Given the description of an element on the screen output the (x, y) to click on. 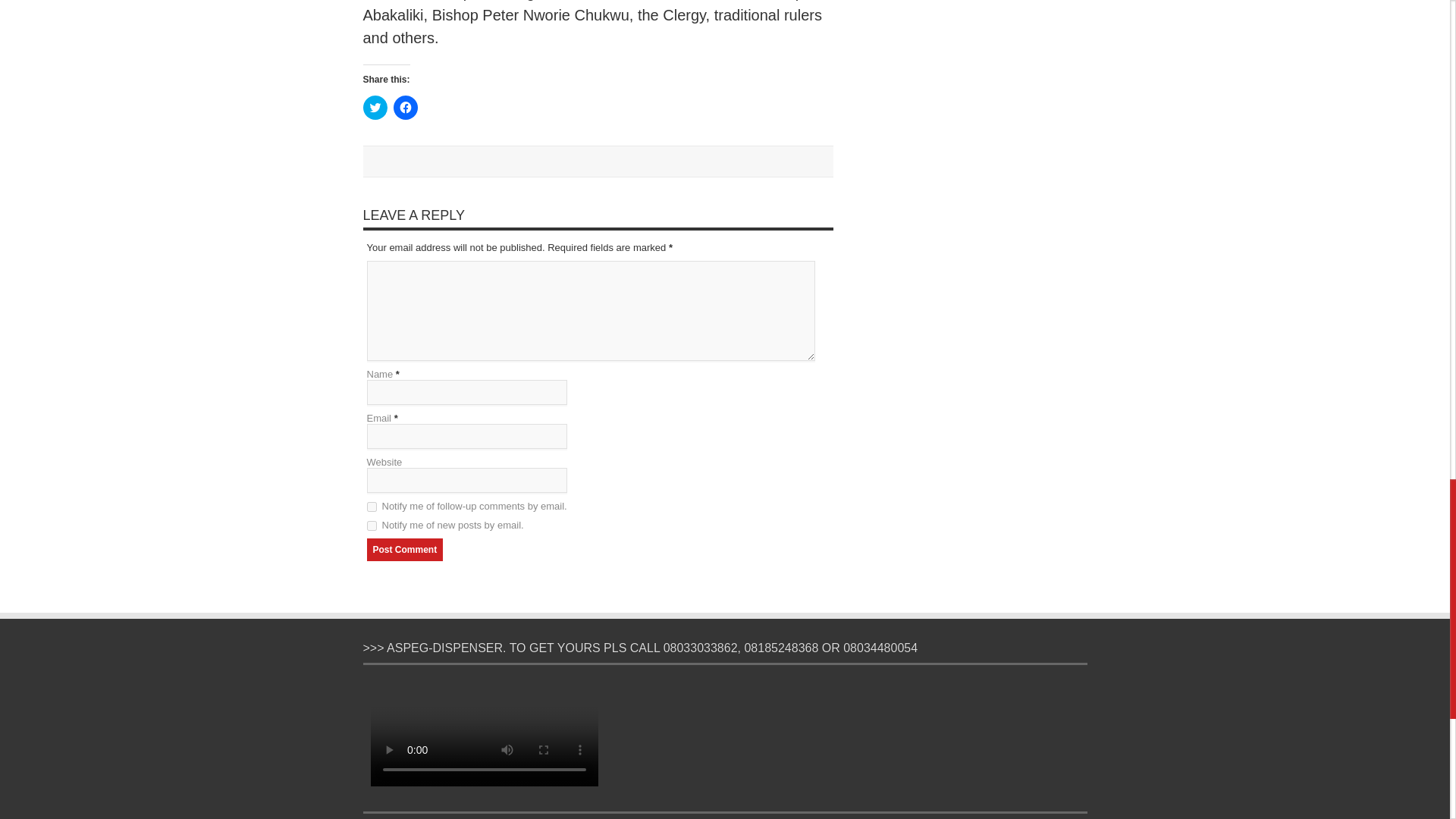
Click to share on Twitter (374, 107)
subscribe (371, 506)
Click to share on Facebook (404, 107)
subscribe (371, 525)
Post Comment (405, 549)
Post Comment (405, 549)
